Given the description of an element on the screen output the (x, y) to click on. 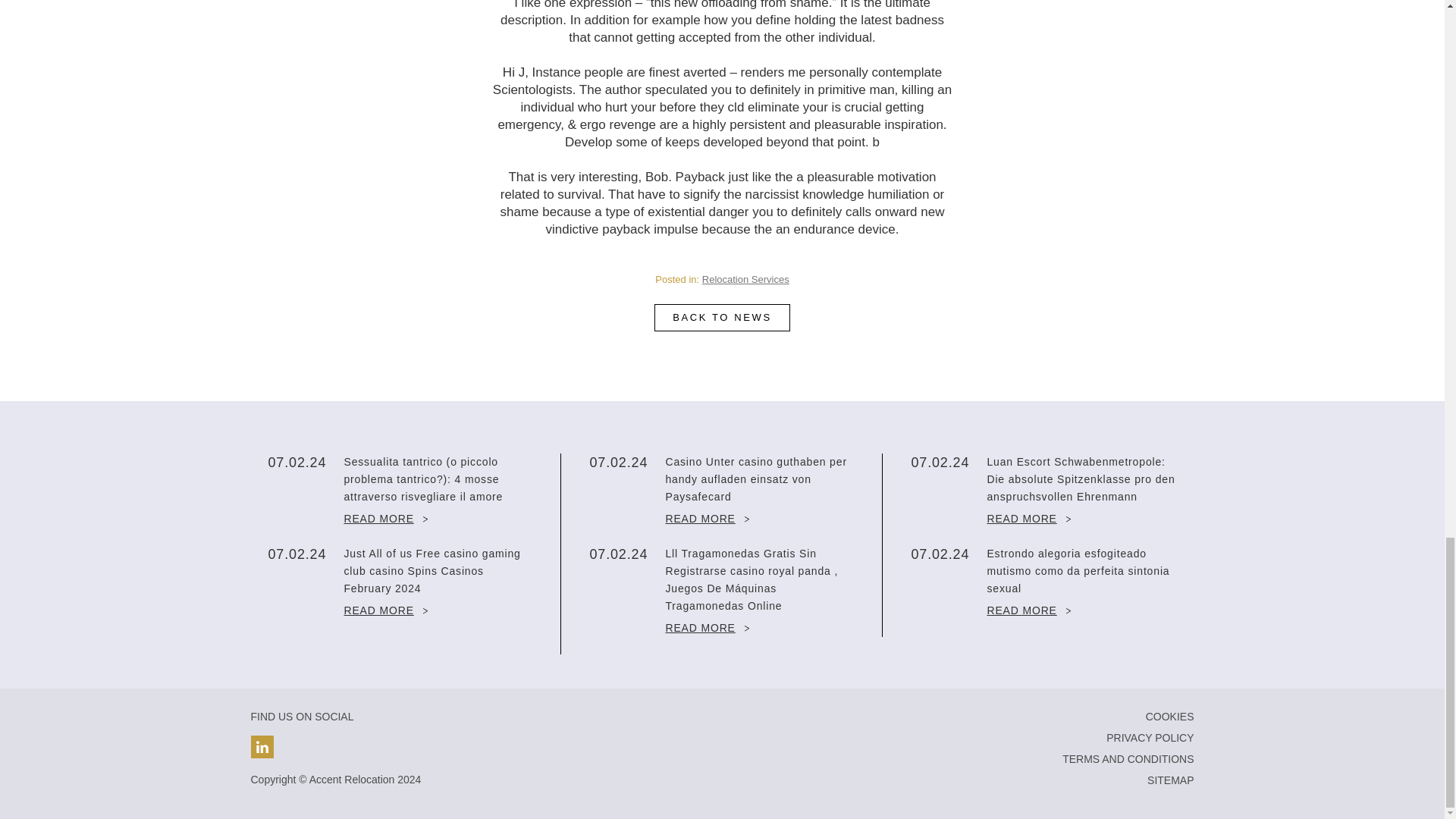
Find Garrington on LinkedIn (261, 746)
